Given the description of an element on the screen output the (x, y) to click on. 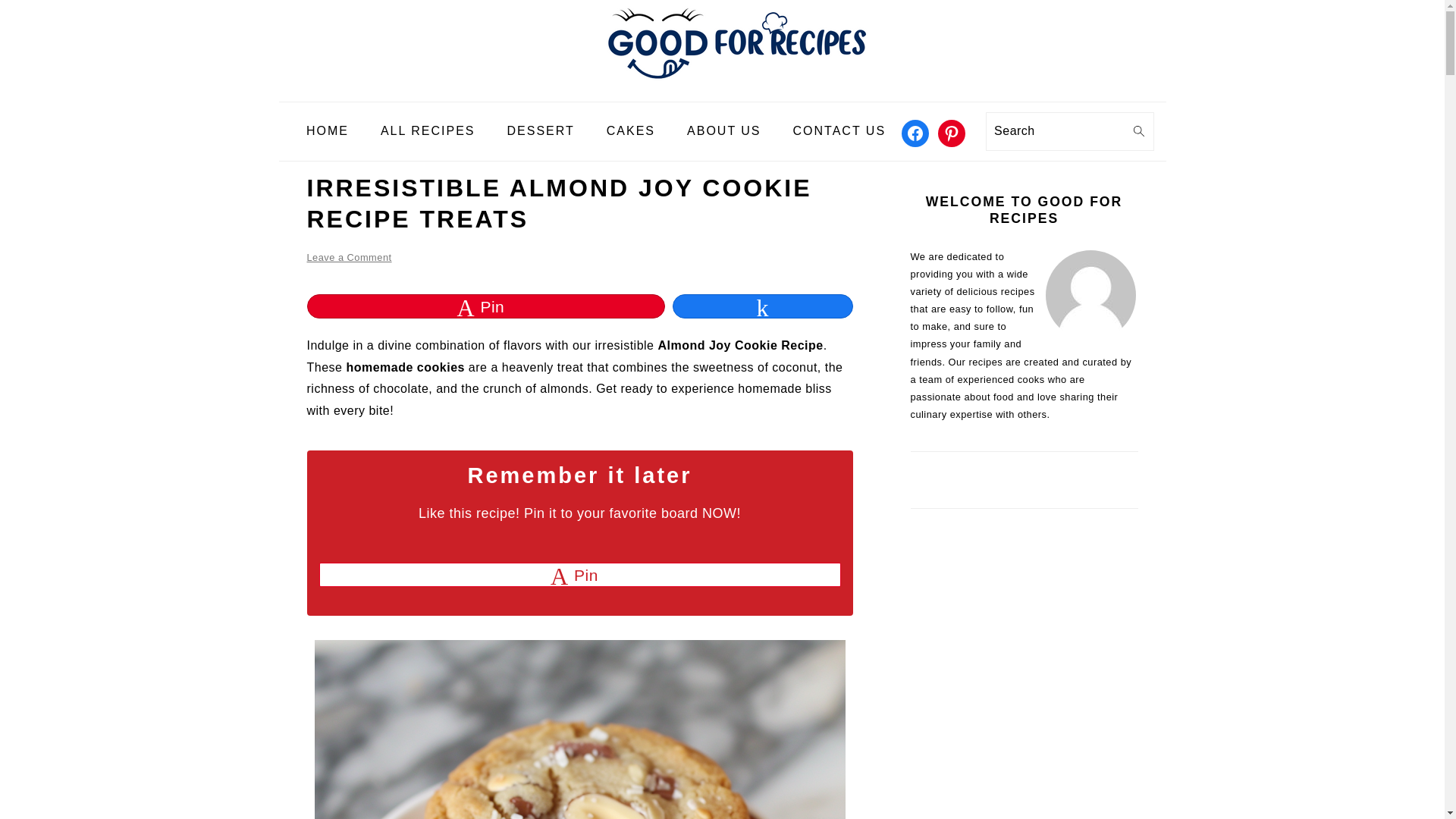
HOME (327, 131)
Good For Recipes (721, 40)
ABOUT US (724, 131)
Good For Recipes (721, 89)
PINTEREST (951, 133)
Pin (486, 305)
DESSERT (541, 131)
CAKES (631, 131)
CONTACT US (839, 131)
Pin (580, 574)
Leave a Comment (348, 256)
